Given the description of an element on the screen output the (x, y) to click on. 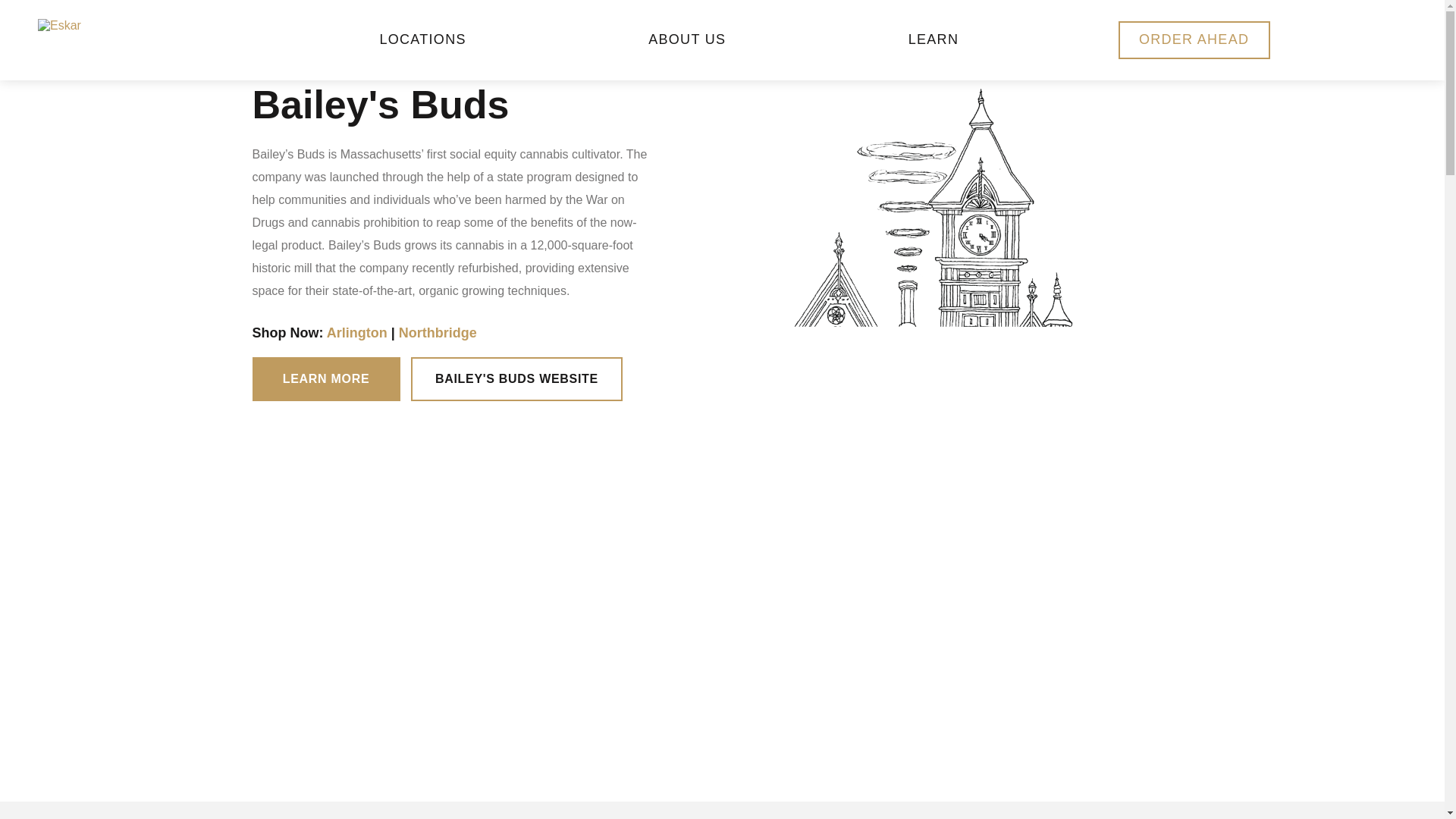
BAILEY'S BUDS WEBSITE (516, 379)
LEARN MORE (324, 379)
ABOUT US (687, 39)
ORDER AHEAD (1193, 39)
Arlington (356, 332)
LOCATIONS (421, 39)
LEARN (933, 39)
home (128, 39)
Northbridge (437, 332)
